Given the description of an element on the screen output the (x, y) to click on. 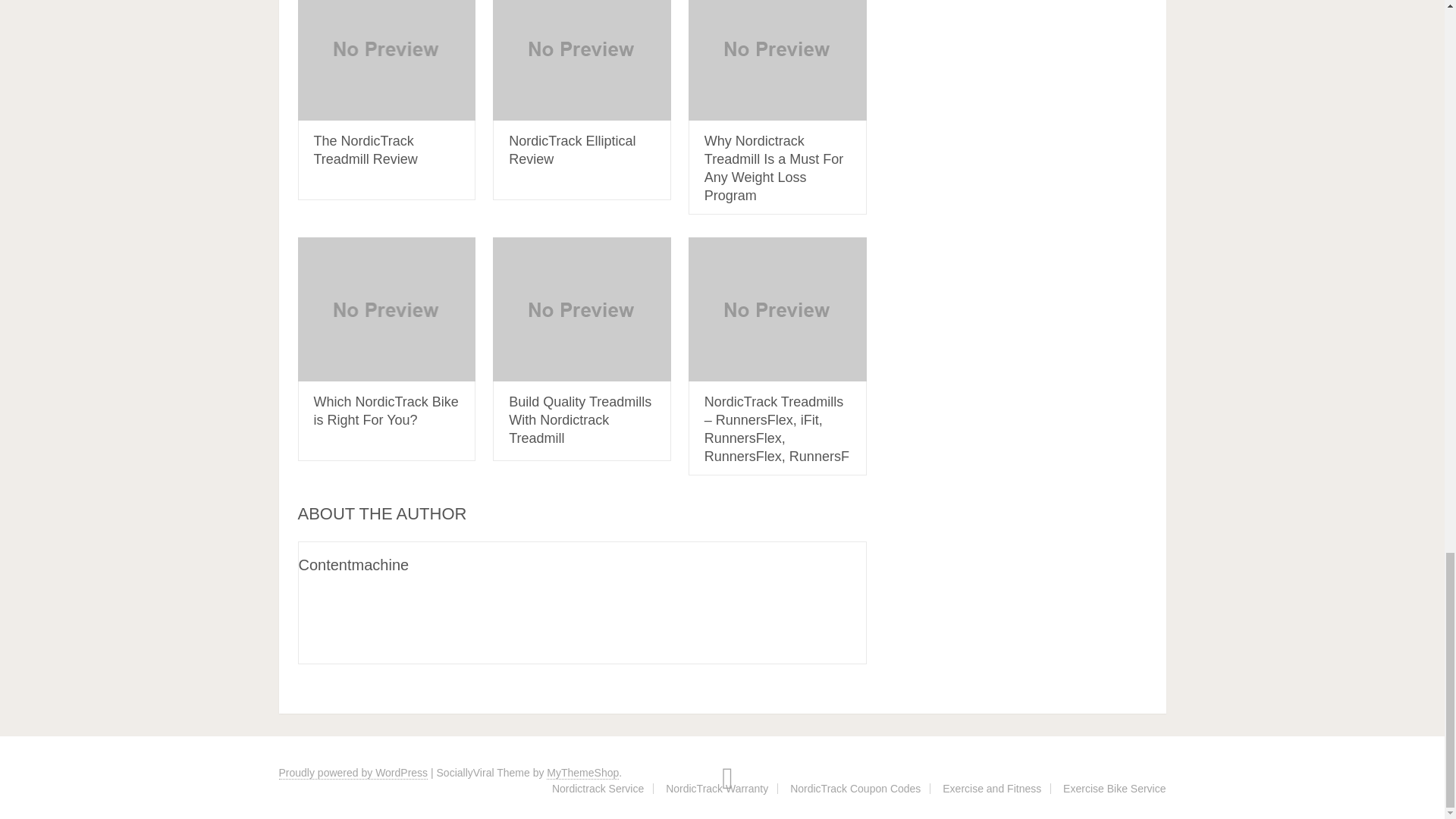
Which NordicTrack Bike is Right For You? (386, 410)
Proudly powered by WordPress (353, 772)
Build Quality Treadmills With Nordictrack Treadmill (582, 309)
The NordicTrack Treadmill Review (386, 60)
NordicTrack Elliptical Review (582, 60)
Build Quality Treadmills With Nordictrack Treadmill (579, 419)
Which NordicTrack Bike is Right For You? (386, 309)
MyThemeShop (582, 772)
NordicTrack Elliptical Review (571, 150)
